Given the description of an element on the screen output the (x, y) to click on. 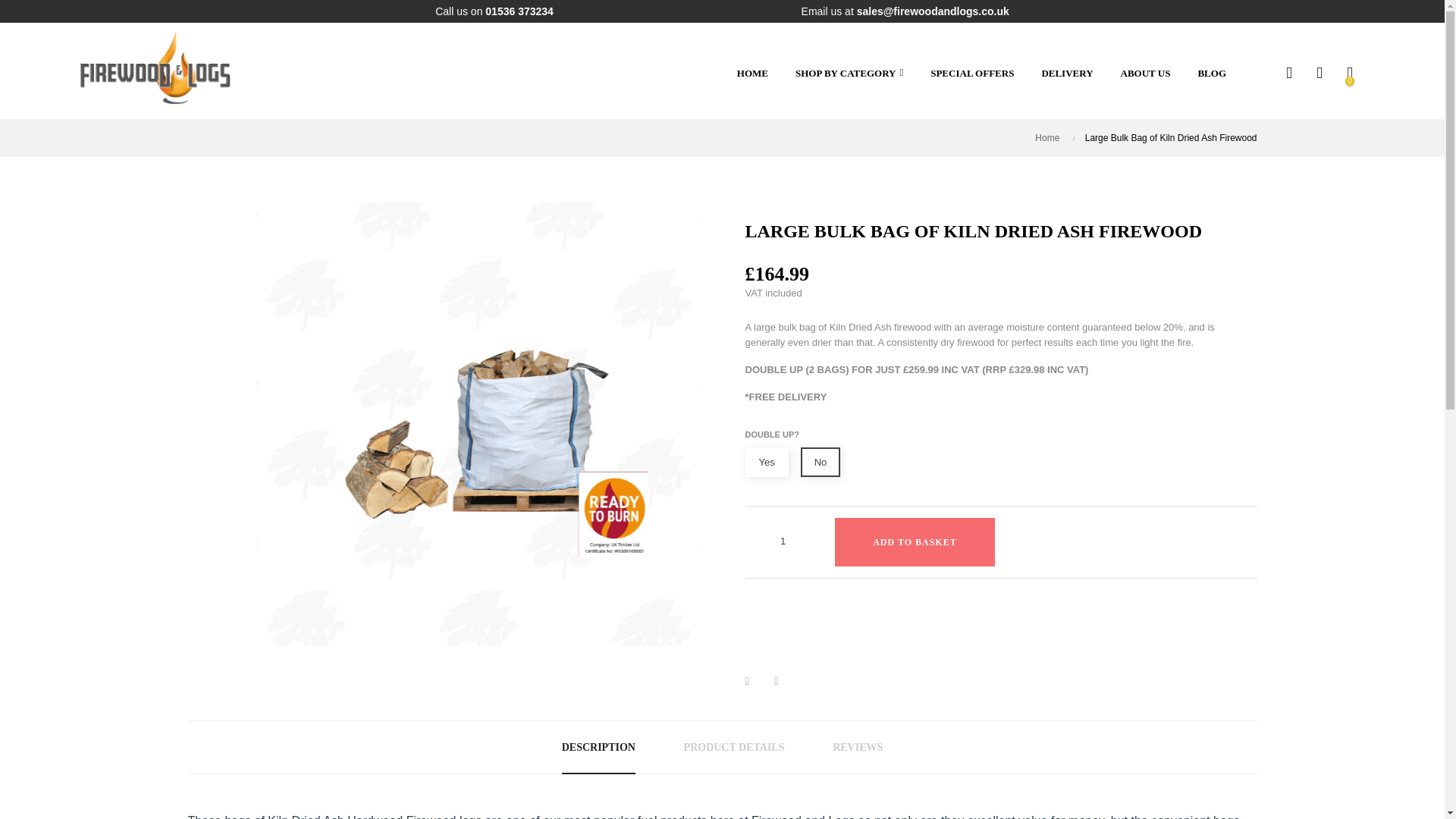
HOME (752, 73)
DELIVERY (1066, 73)
ABOUT US (1145, 73)
1 (782, 540)
SPECIAL OFFERS (972, 73)
BLOG (1211, 73)
SHOP BY CATEGORY (849, 73)
